Given the description of an element on the screen output the (x, y) to click on. 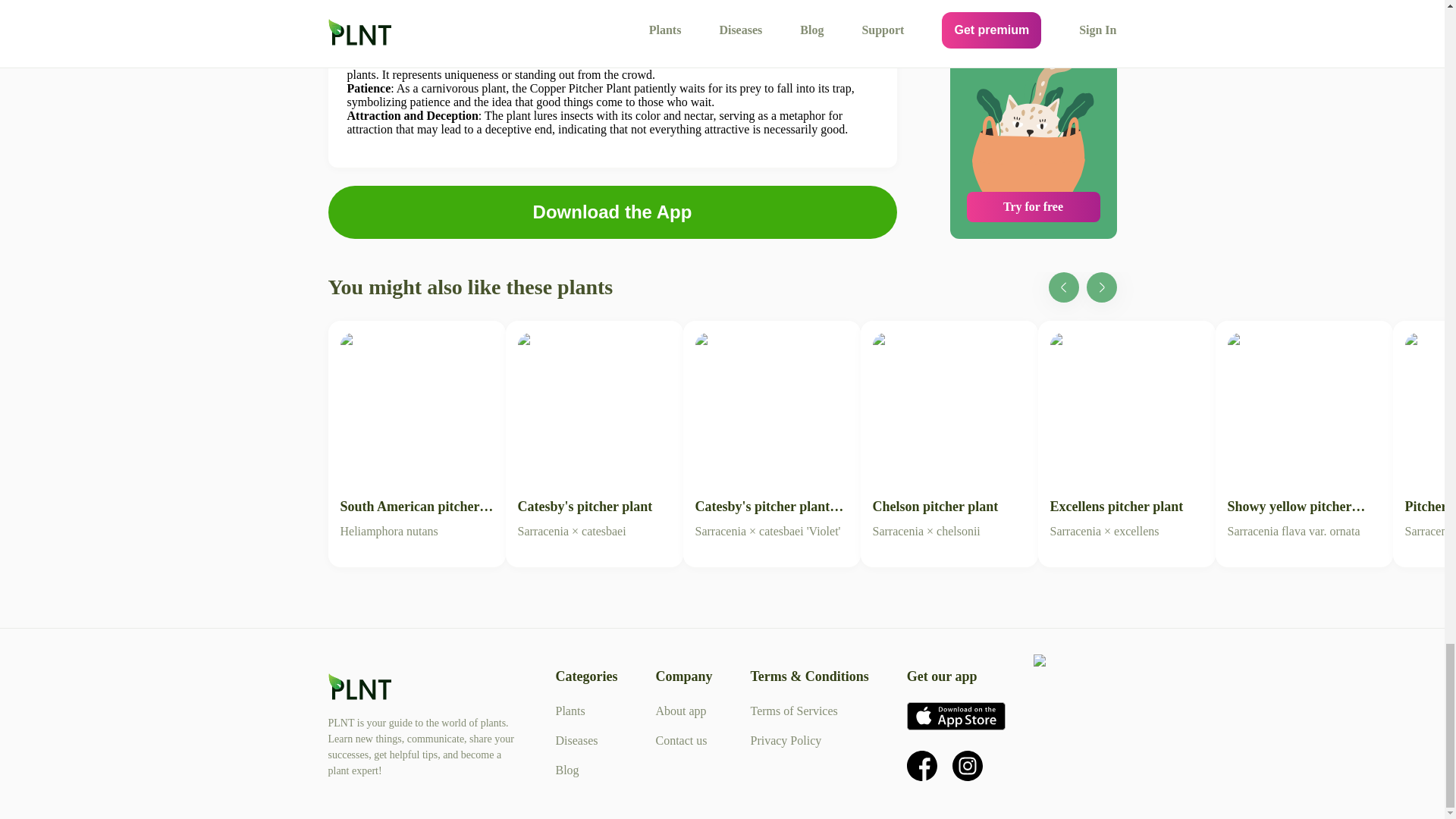
Download the App (611, 212)
Plants (569, 710)
Terms of Services (416, 436)
Diseases (793, 710)
Contact us (575, 739)
About app (680, 739)
Blog (680, 710)
Download the App (1302, 436)
Privacy Policy (566, 769)
